Given the description of an element on the screen output the (x, y) to click on. 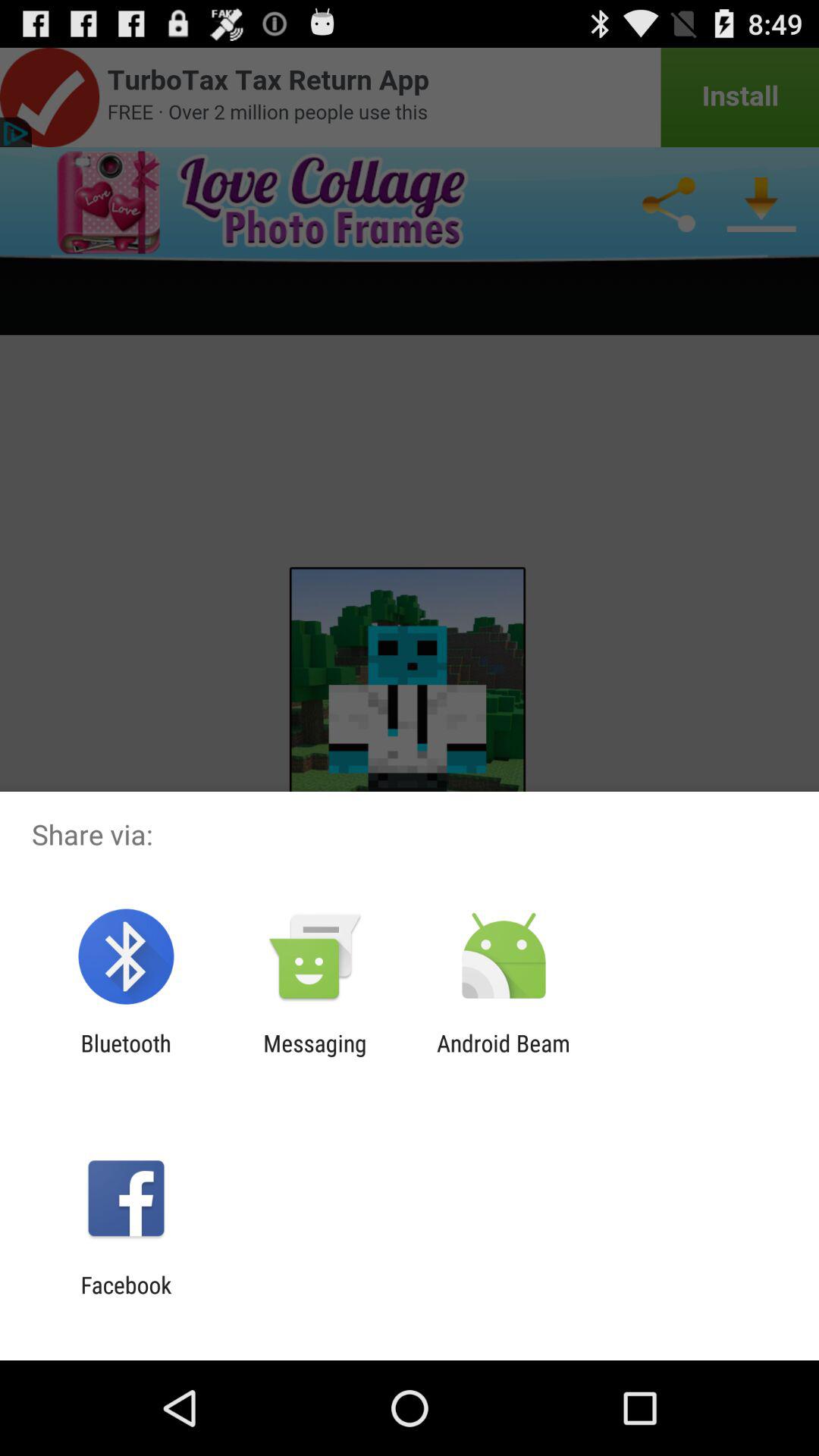
press item to the left of android beam item (314, 1056)
